Given the description of an element on the screen output the (x, y) to click on. 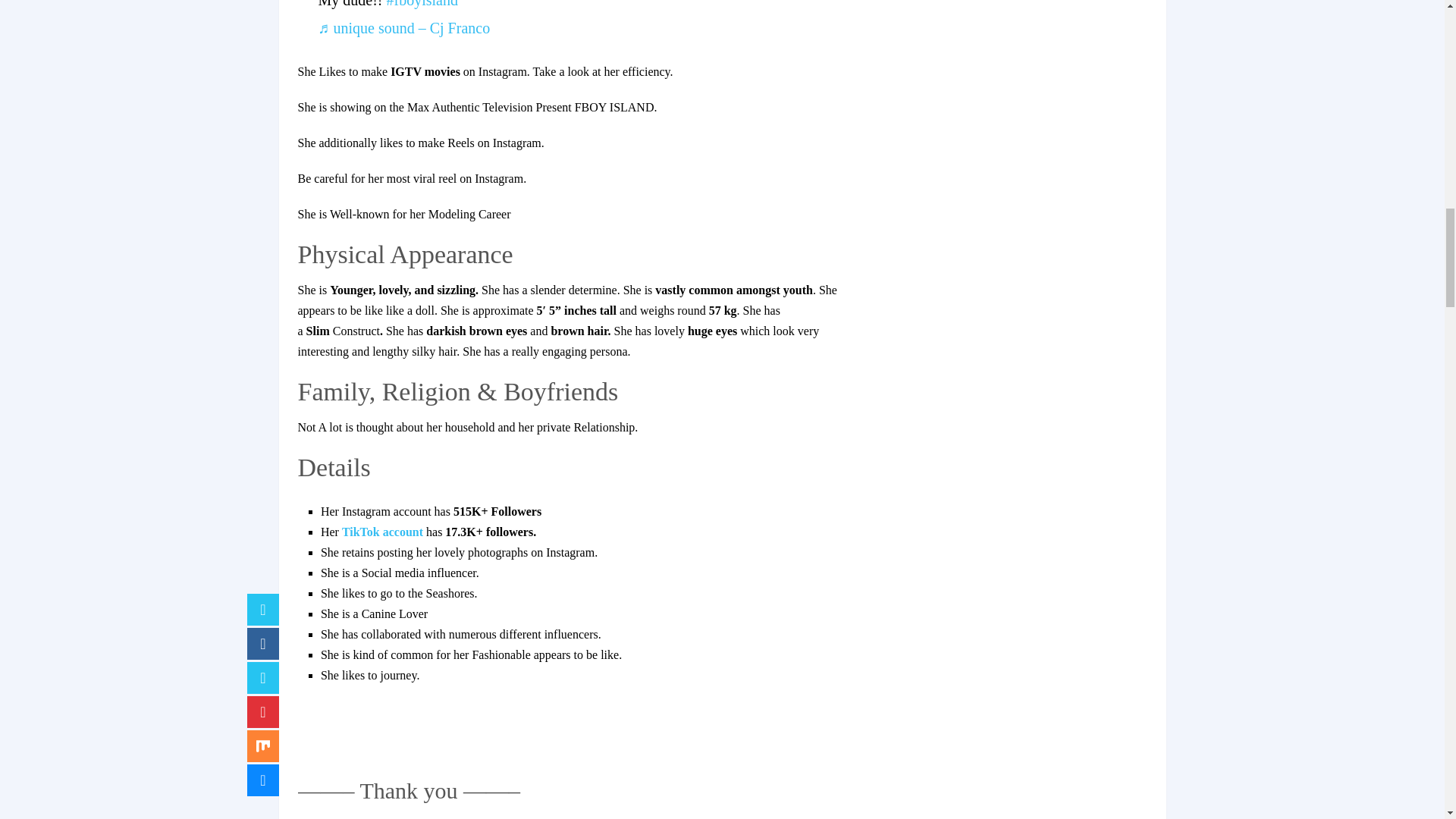
fboyisland (421, 4)
TikTok account (384, 531)
